Given the description of an element on the screen output the (x, y) to click on. 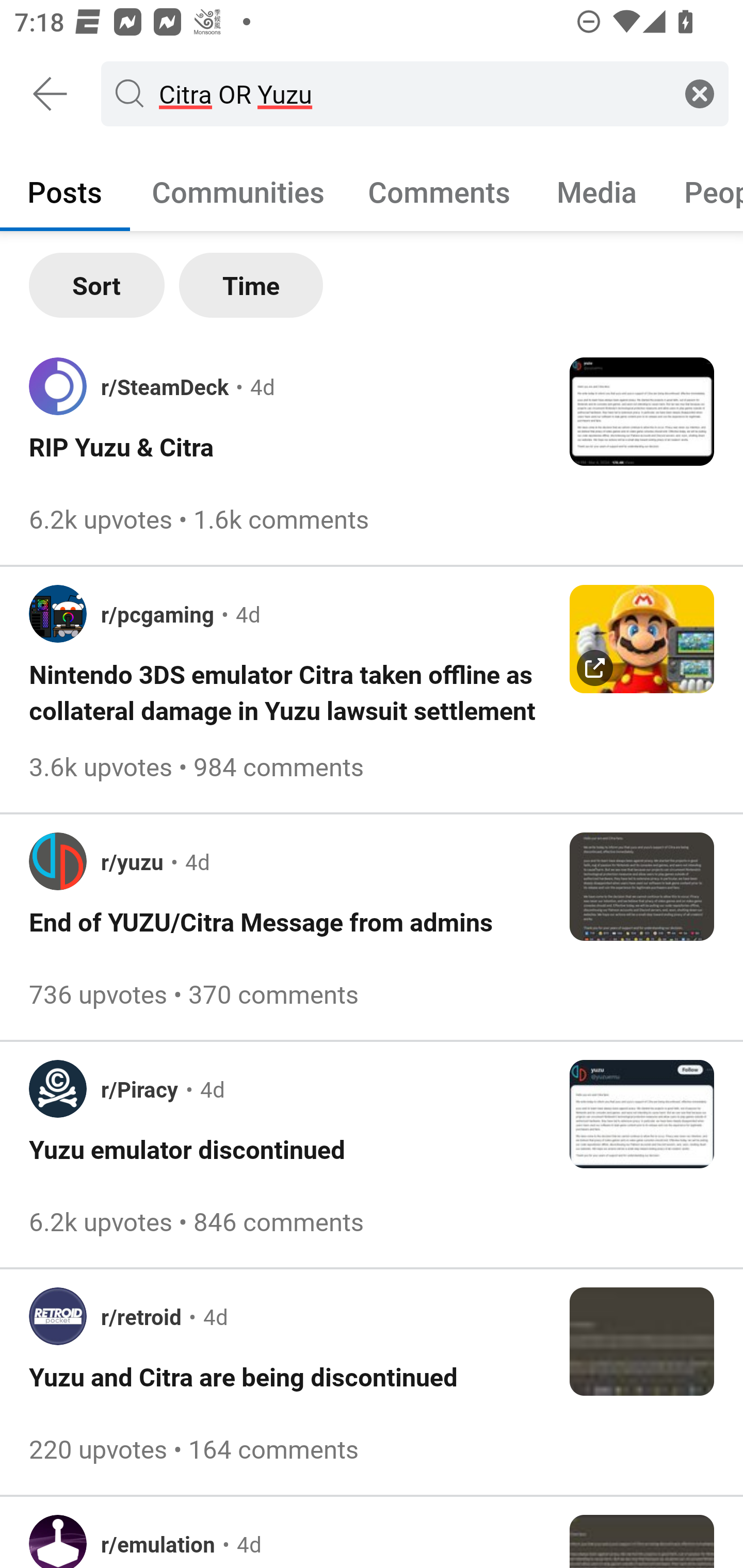
Back (50, 93)
Citra OR Yuzu (410, 93)
Clear search (699, 93)
Communities (238, 191)
Comments (438, 191)
Media (596, 191)
Sort Sort by Most relevant (96, 285)
Time Filter Time by All time (251, 285)
